Given the description of an element on the screen output the (x, y) to click on. 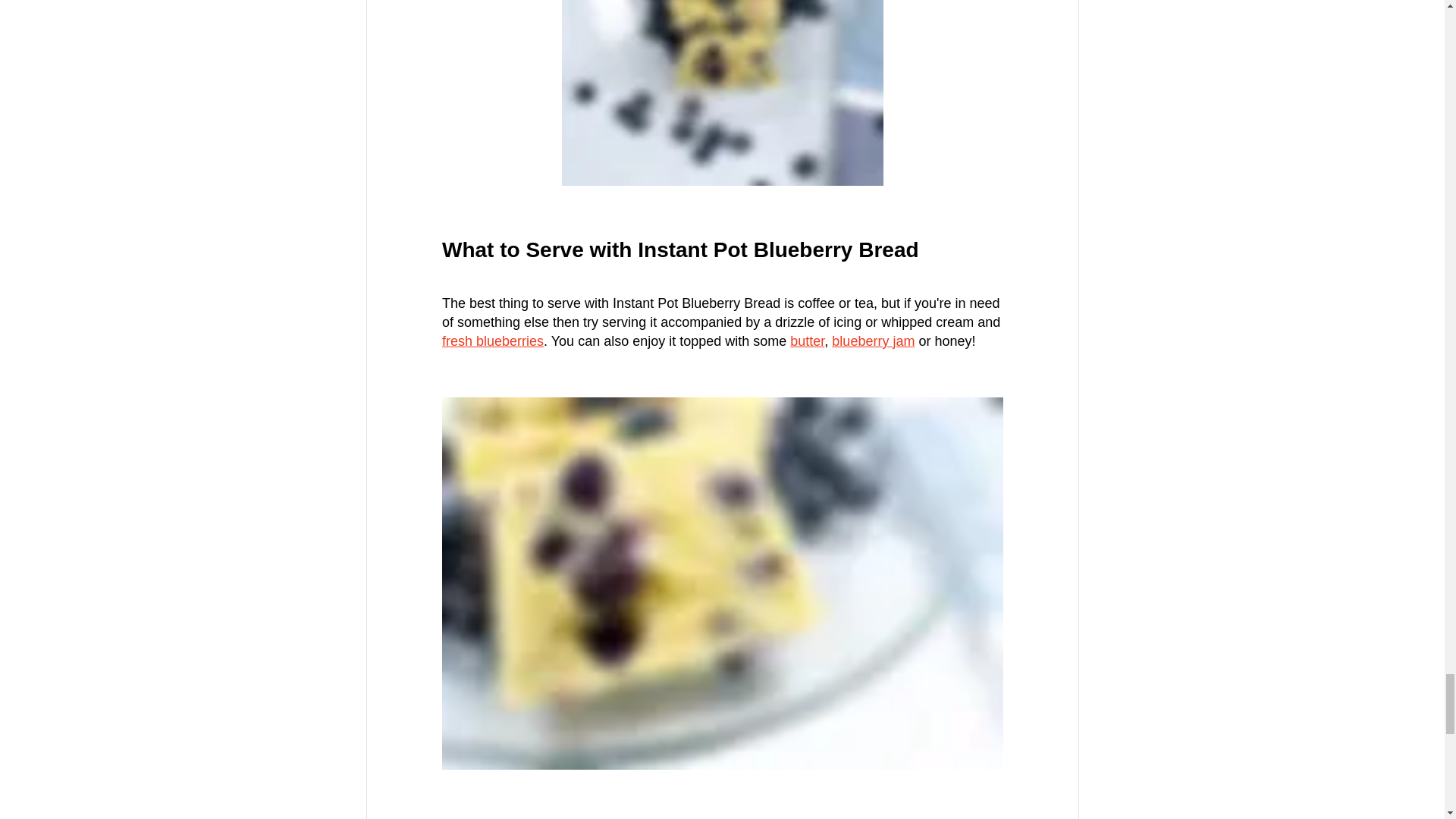
blueberry jam (872, 340)
fresh blueberries (492, 340)
butter (807, 340)
